Given the description of an element on the screen output the (x, y) to click on. 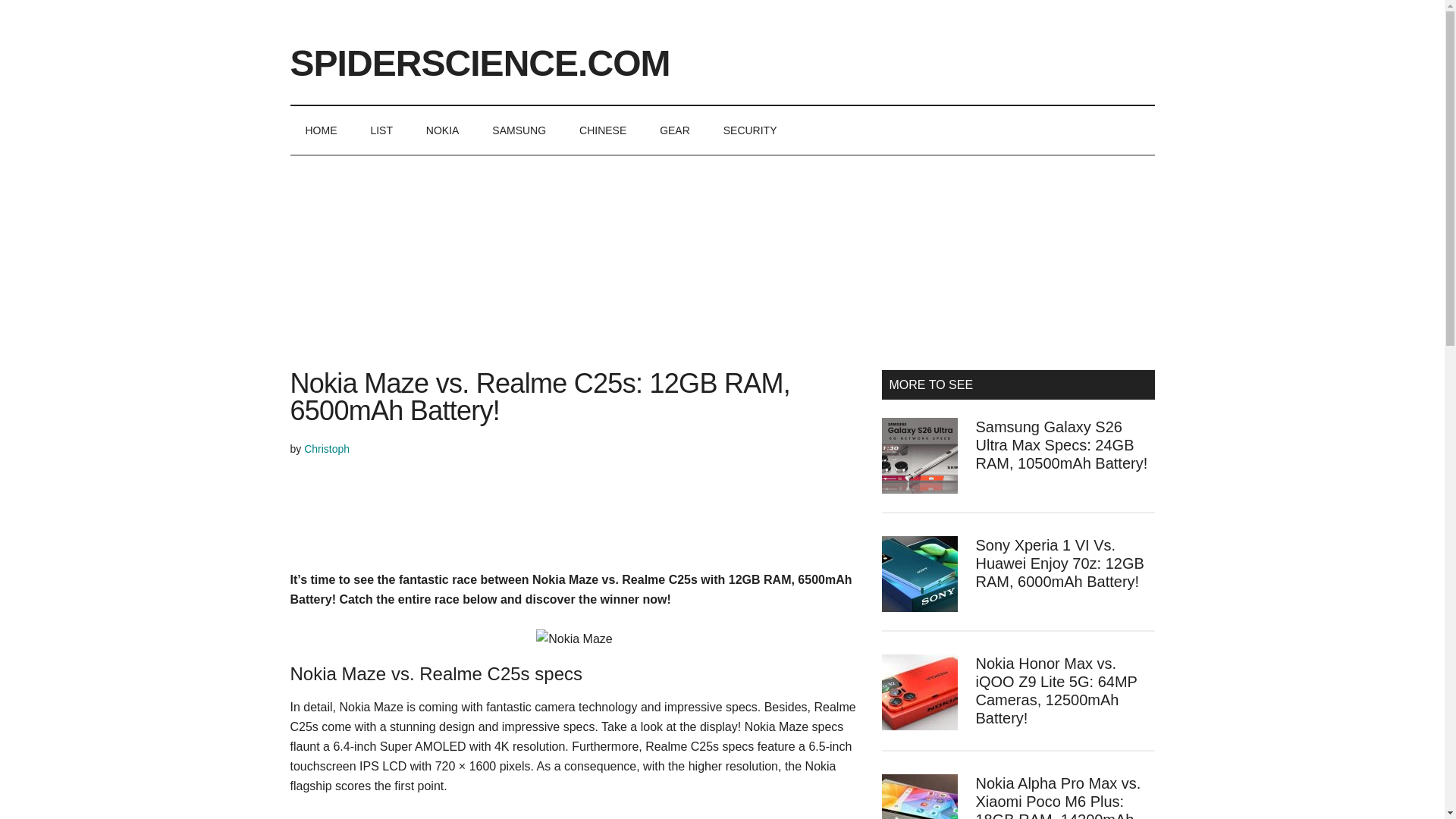
Christoph (326, 449)
NOKIA (442, 130)
CHINESE (603, 130)
HOME (320, 130)
GEAR (674, 130)
LIST (381, 130)
